Given the description of an element on the screen output the (x, y) to click on. 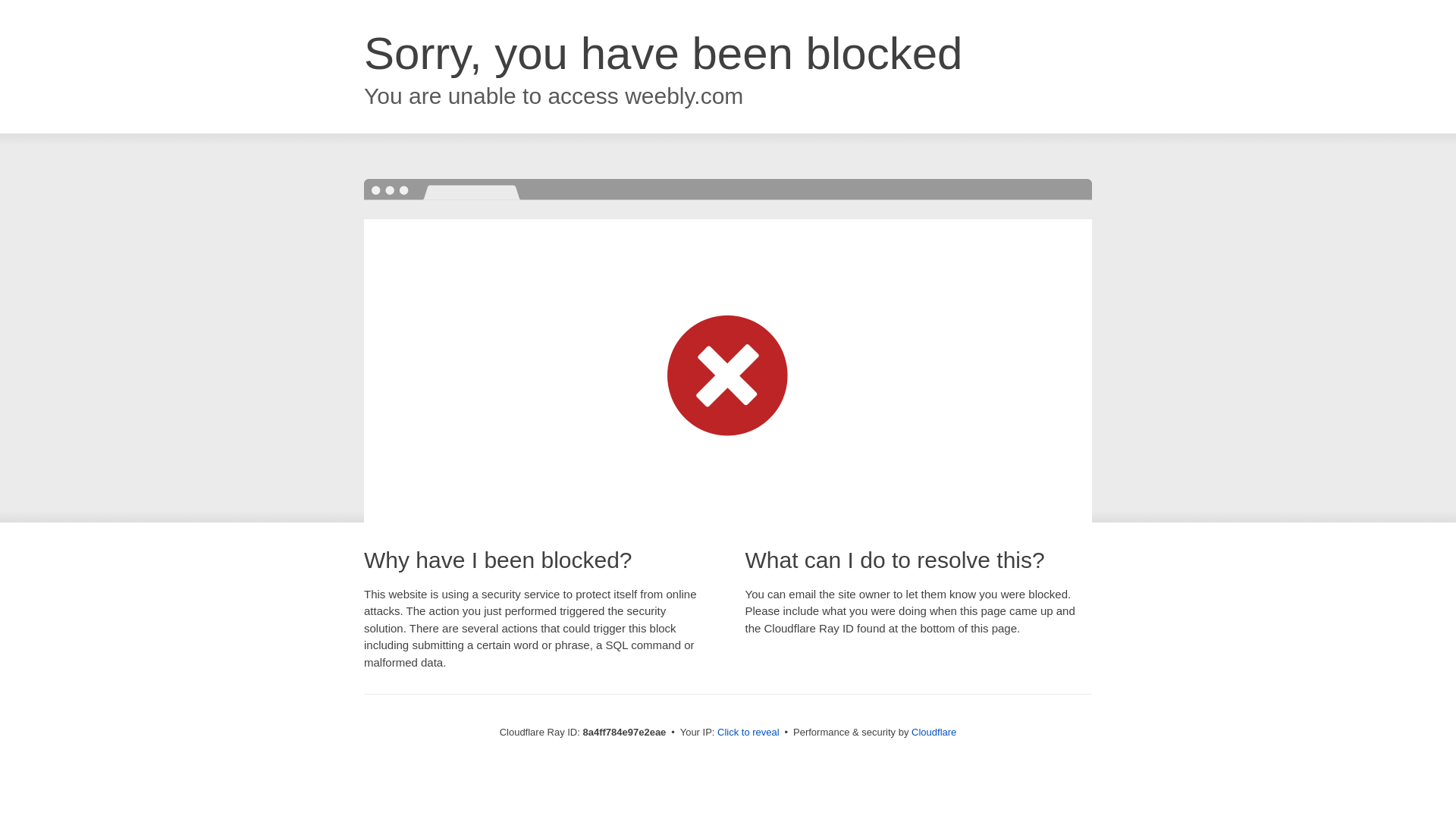
Click to reveal (747, 732)
Cloudflare (933, 731)
